Given the description of an element on the screen output the (x, y) to click on. 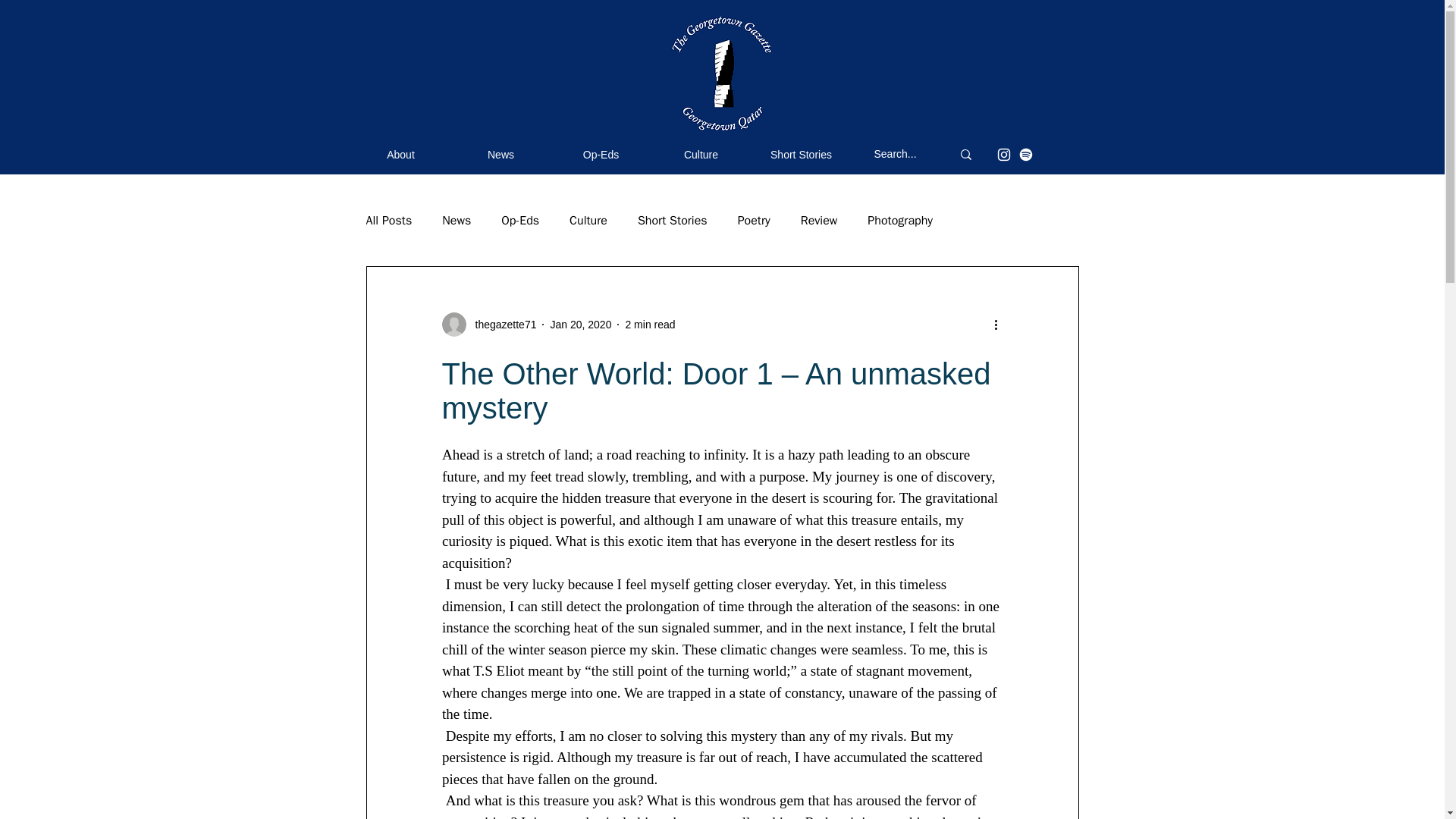
Jan 20, 2020 (580, 324)
Short Stories (800, 154)
Review (819, 220)
thegazette71 (500, 324)
Op-Eds (519, 220)
About (399, 154)
thegazette71 (488, 324)
Short Stories (672, 220)
All Posts (388, 220)
Poetry (754, 220)
